Given the description of an element on the screen output the (x, y) to click on. 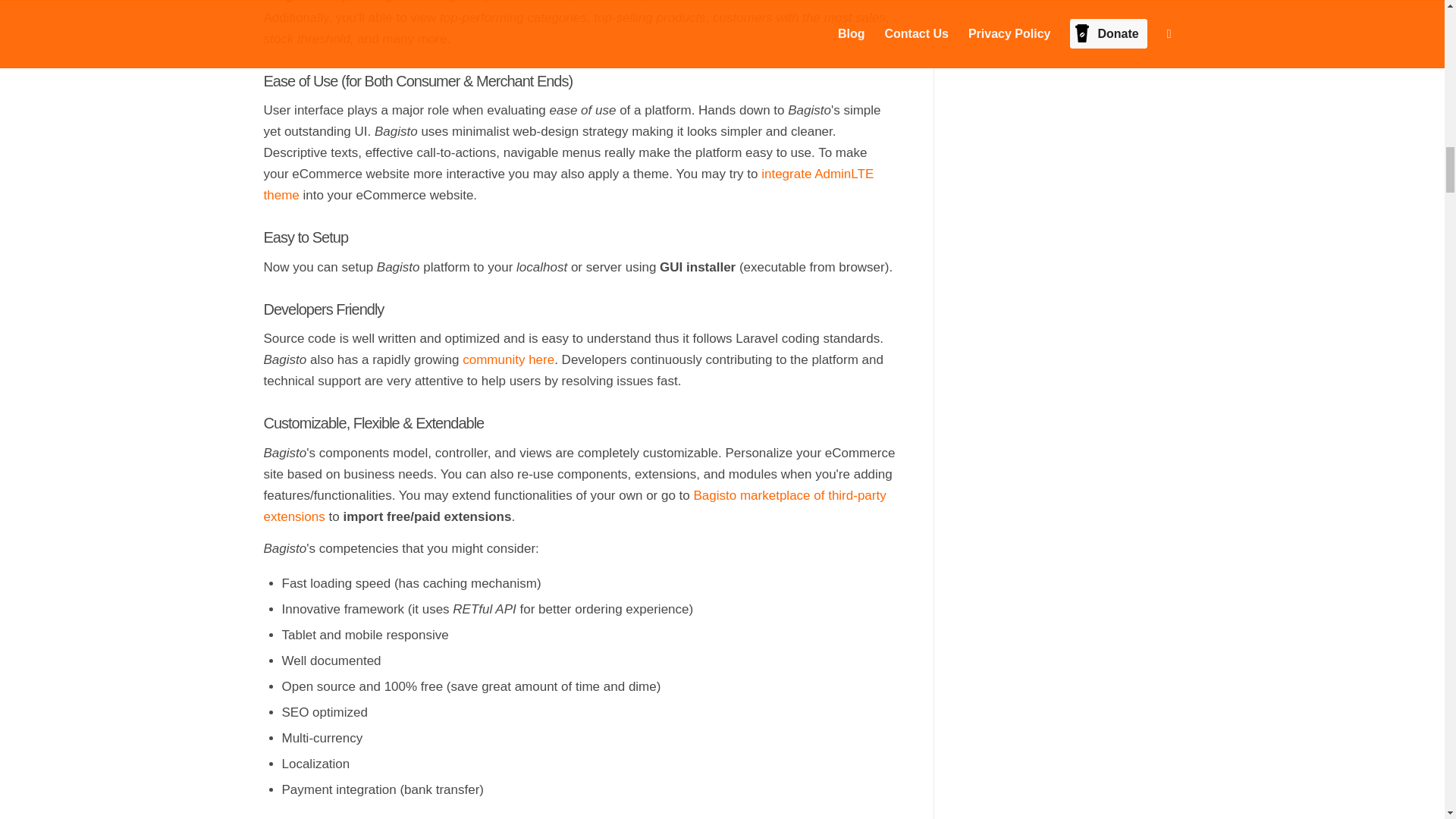
community here (508, 359)
Bagisto marketplace of third-party extensions (574, 506)
integrate AdminLTE theme (569, 184)
